Given the description of an element on the screen output the (x, y) to click on. 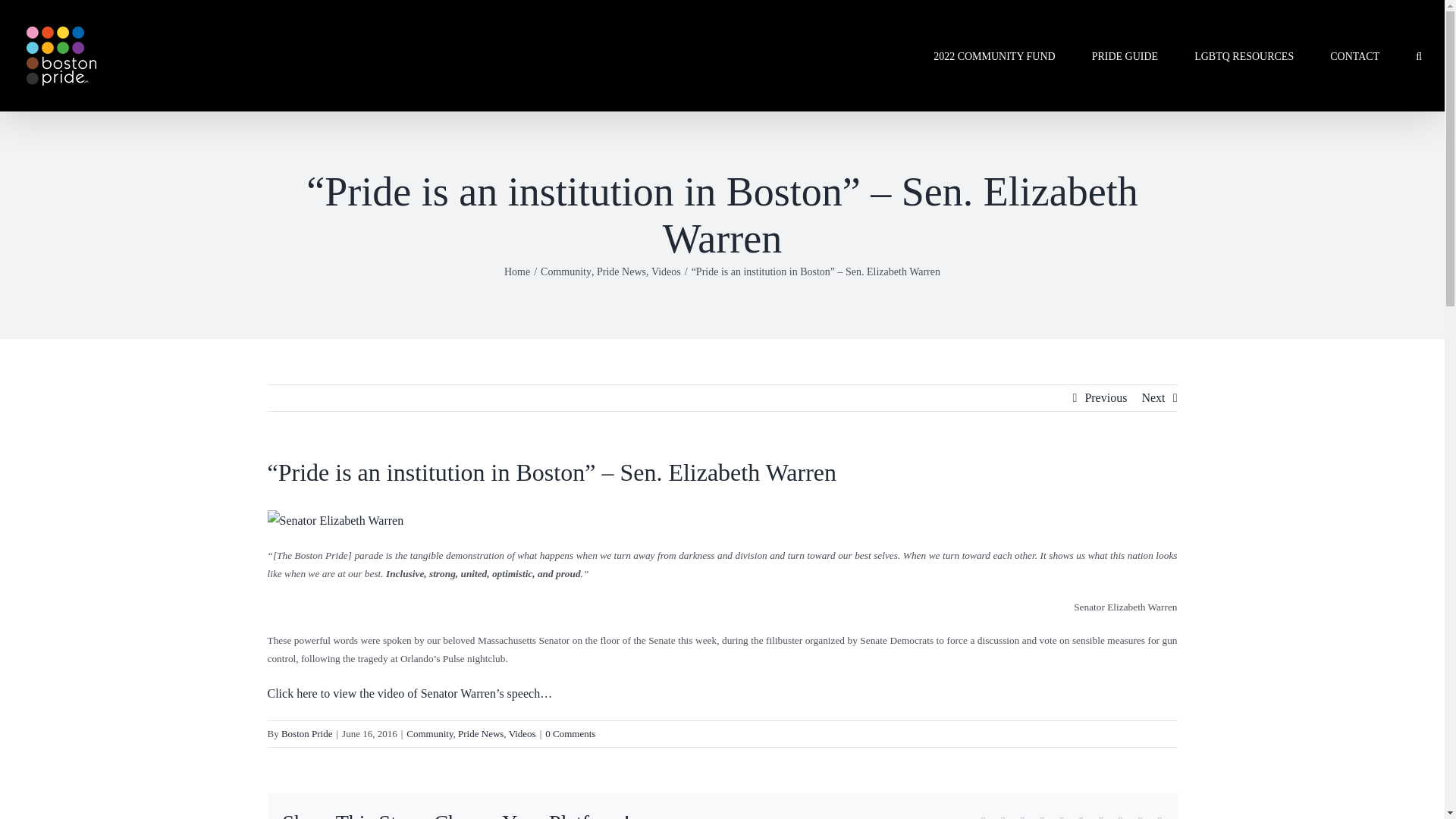
Home (516, 271)
Videos (665, 271)
Next (1152, 397)
